Given the description of an element on the screen output the (x, y) to click on. 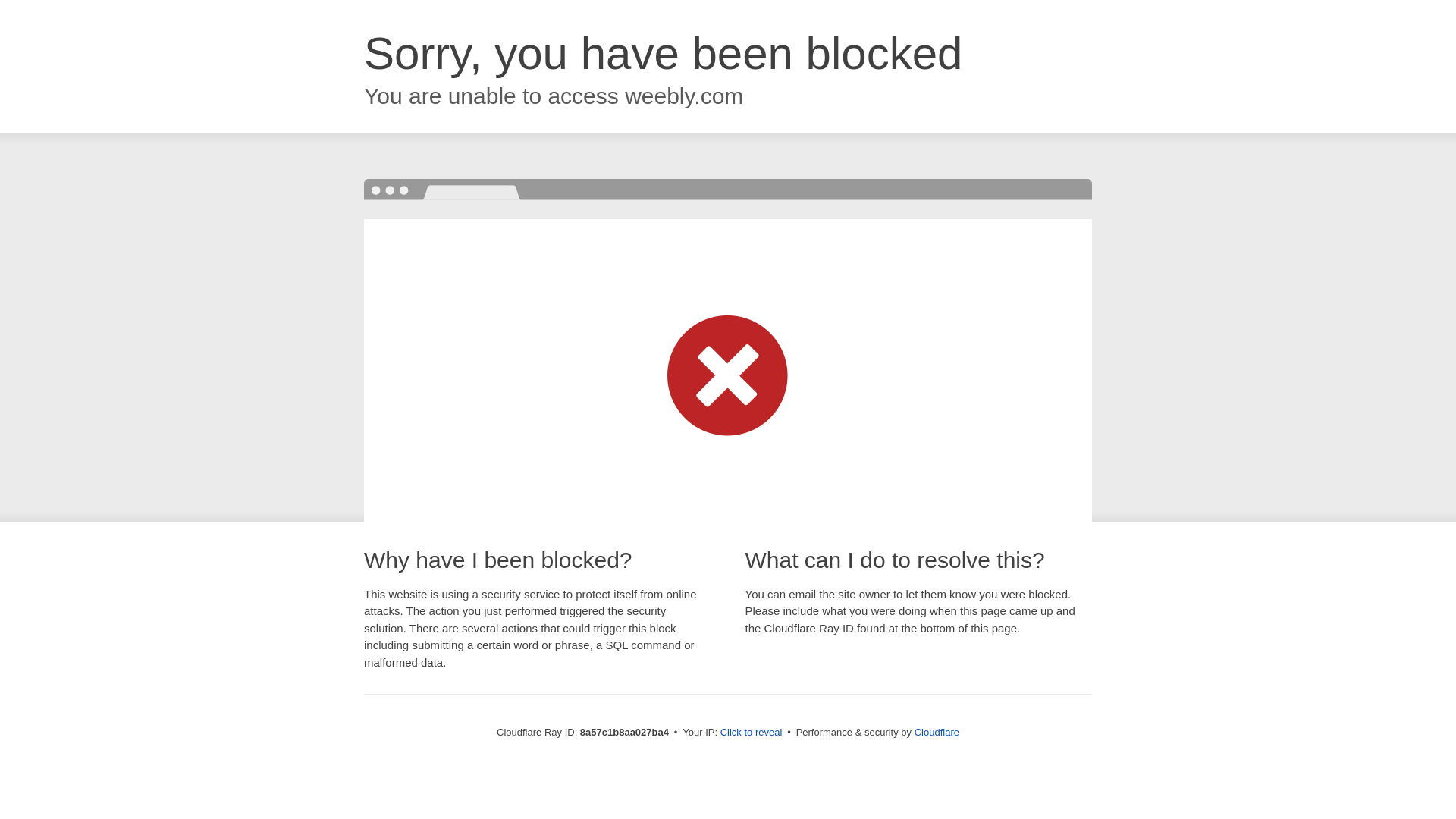
Click to reveal (751, 732)
Cloudflare (936, 731)
